Given the description of an element on the screen output the (x, y) to click on. 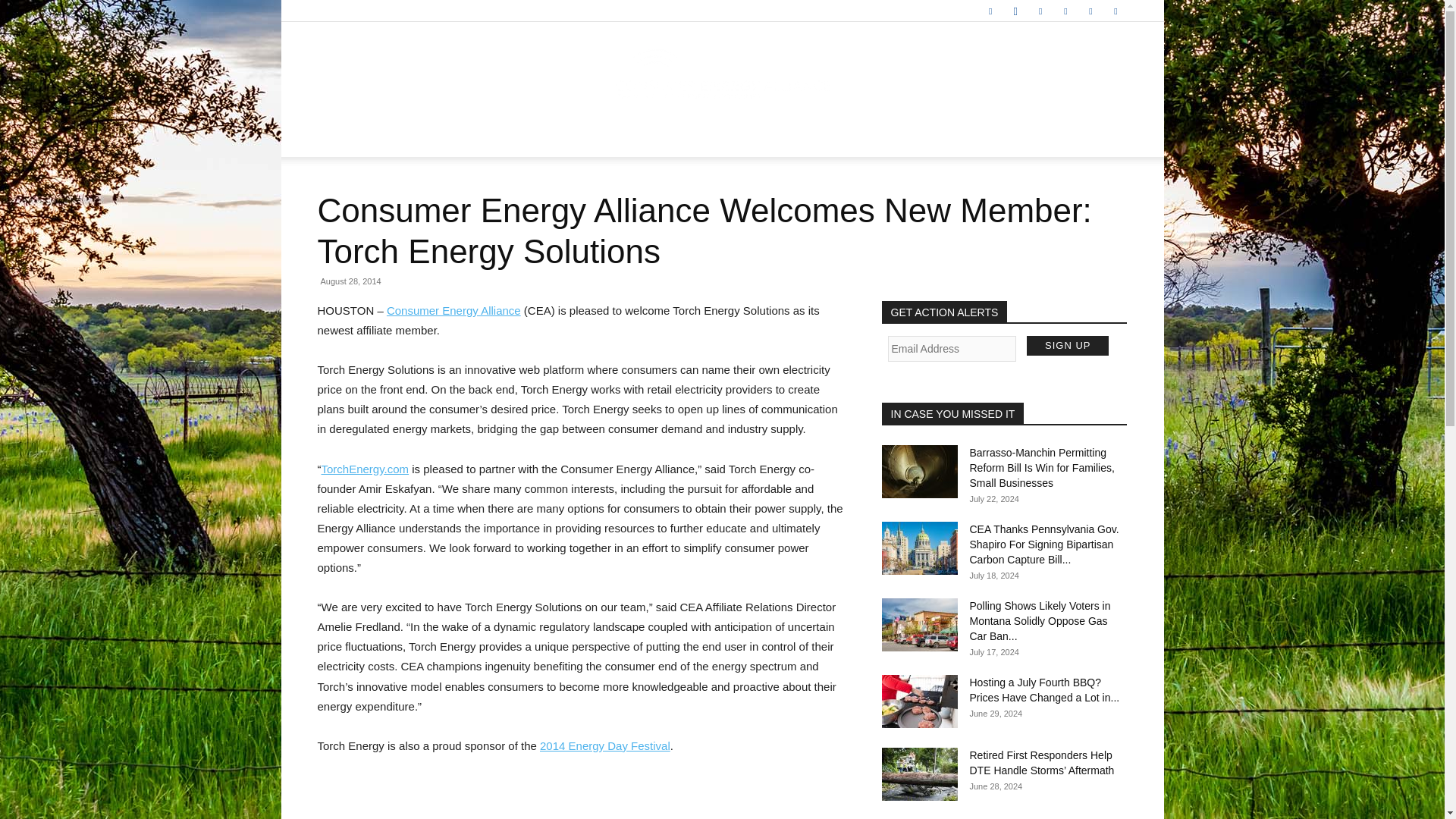
Youtube (1114, 10)
Consumer Energy Alliance (722, 72)
The leading national consumer advocate on energy issues. (721, 72)
Facebook (989, 10)
Twitter (1090, 10)
Linkedin (1040, 10)
Instagram (1015, 10)
SIGN UP (1067, 345)
RSS (1065, 10)
